Given the description of an element on the screen output the (x, y) to click on. 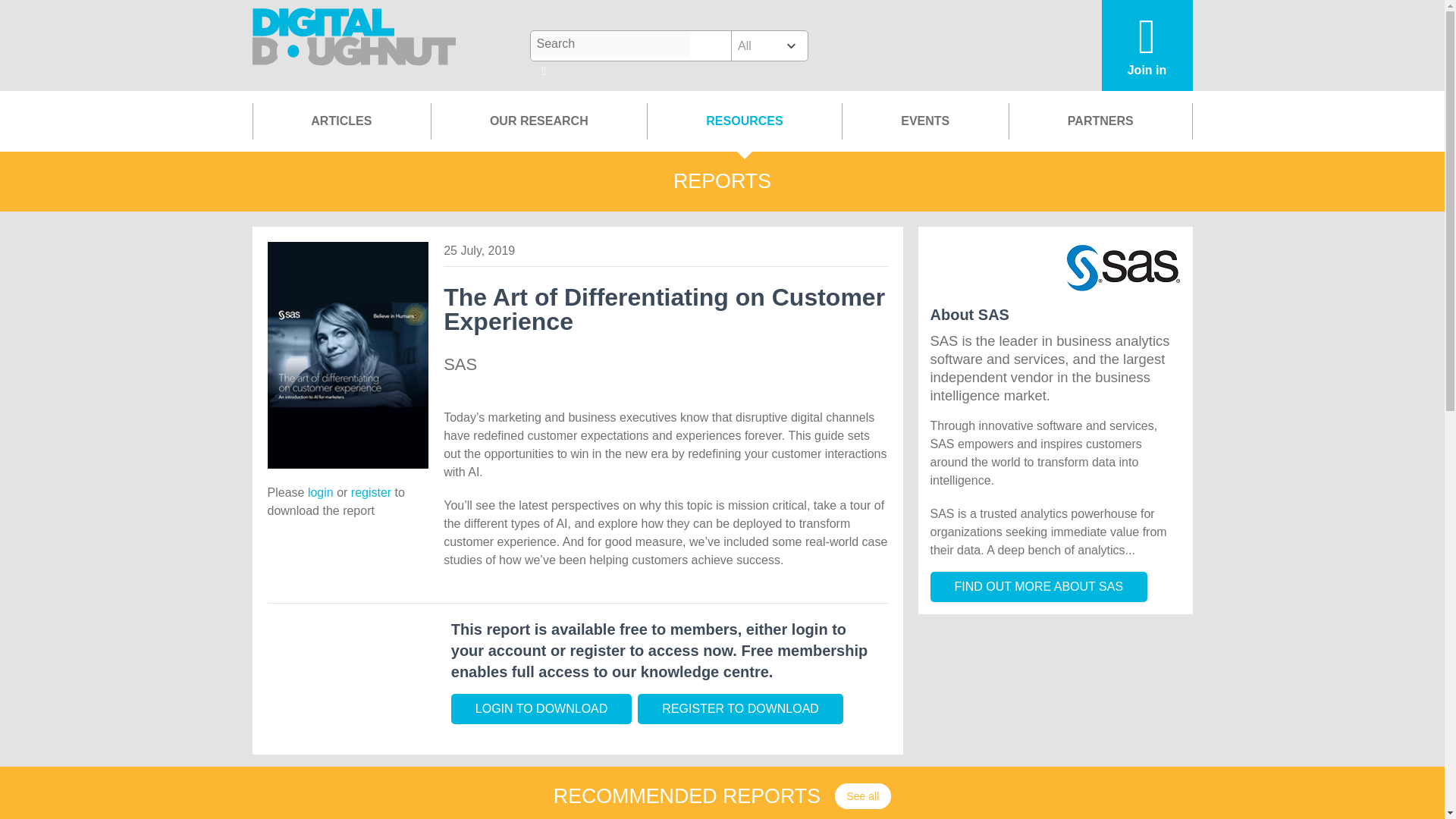
See all (862, 795)
EVENTS (925, 120)
PARTNERS (1100, 120)
REGISTER TO DOWNLOAD (740, 708)
Join in (1146, 45)
Go (544, 71)
FIND OUT MORE ABOUT SAS (1038, 586)
Digital Doughnut (354, 45)
OUR RESEARCH (538, 120)
LOGIN TO DOWNLOAD (541, 708)
Go (544, 71)
Go (544, 71)
login (320, 492)
ARTICLES (340, 120)
register (370, 492)
